Given the description of an element on the screen output the (x, y) to click on. 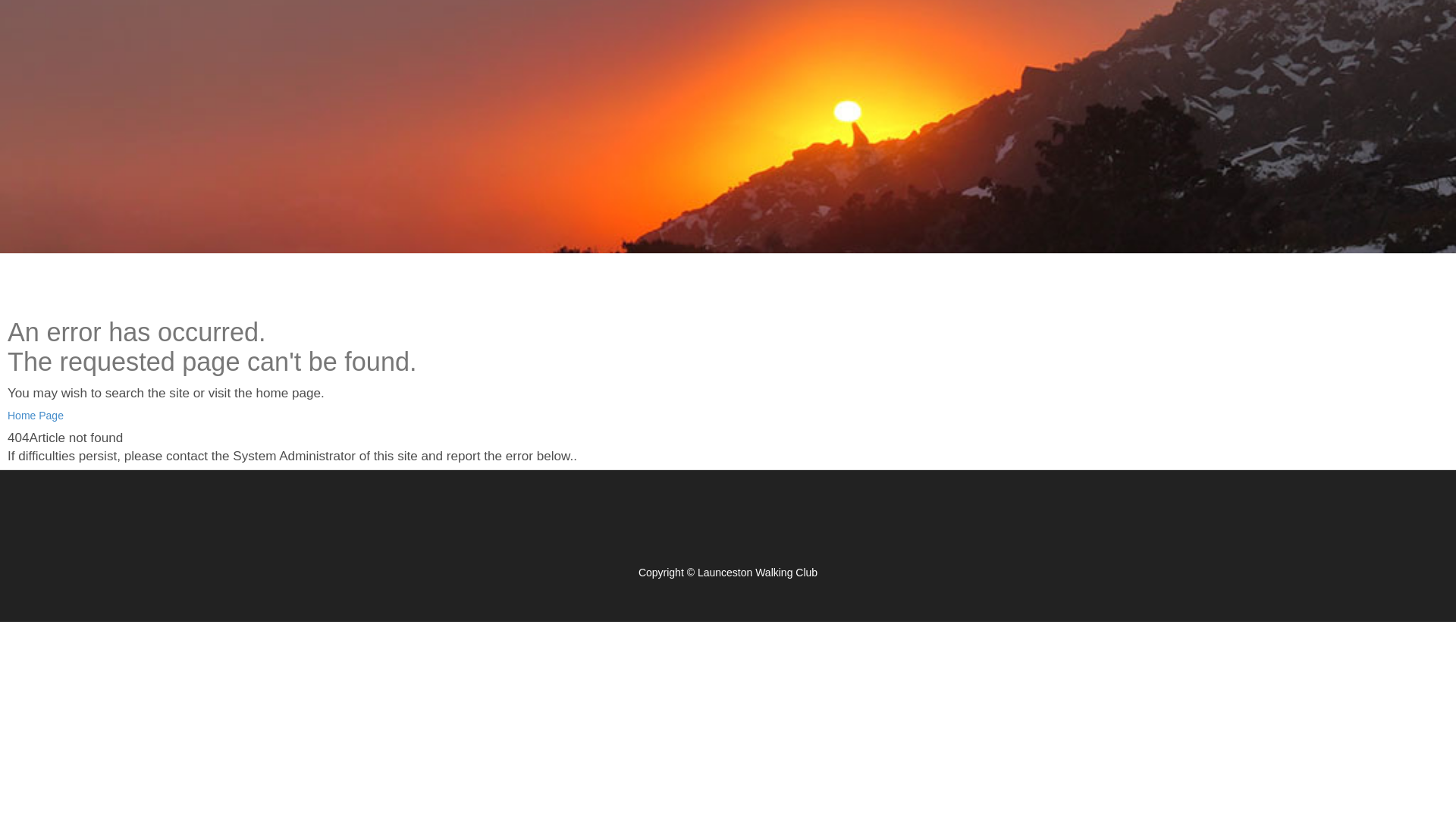
Home Page Element type: text (35, 415)
